Given the description of an element on the screen output the (x, y) to click on. 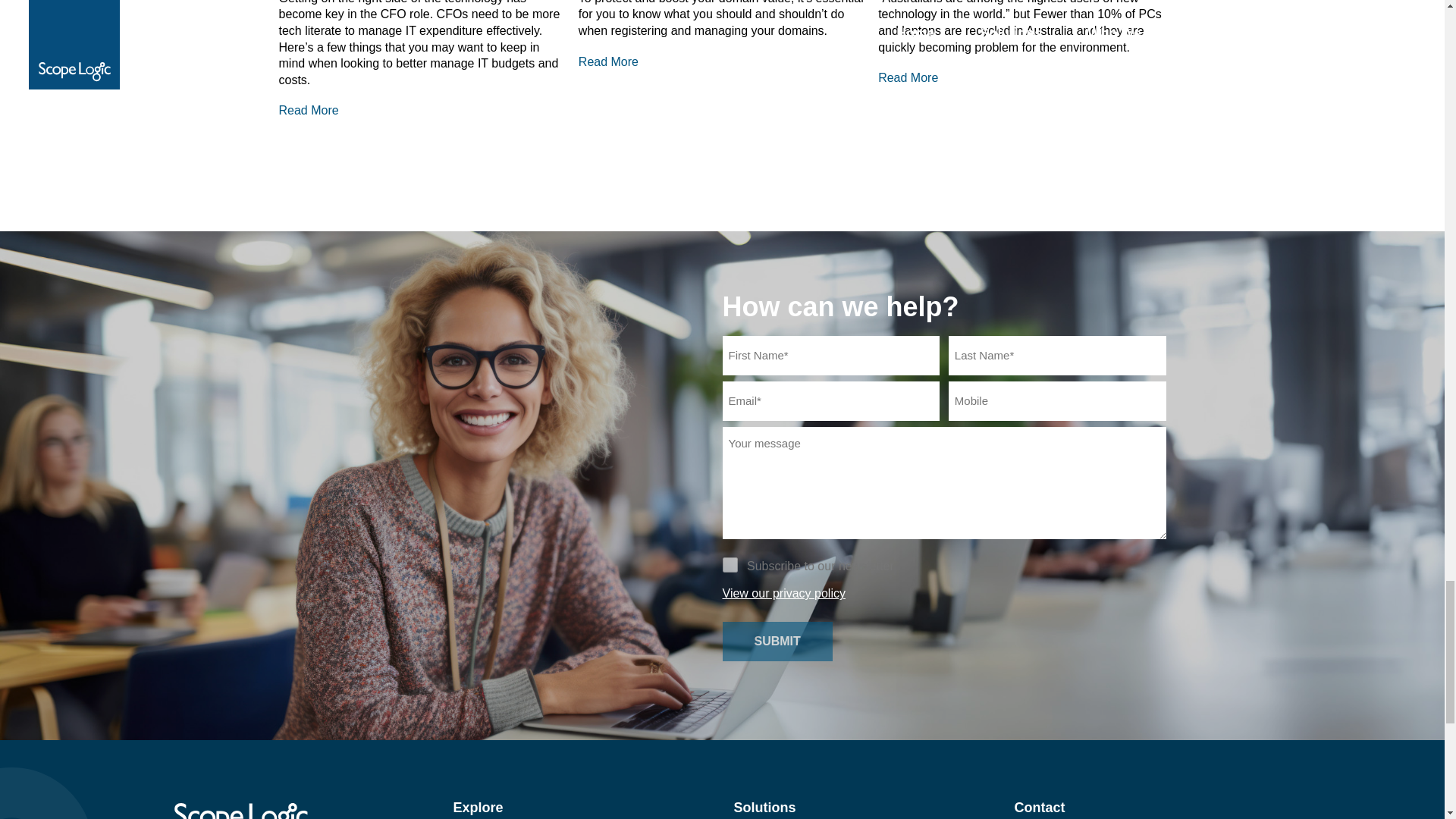
Subscribe to our newsletter (729, 564)
Submit (776, 640)
